Given the description of an element on the screen output the (x, y) to click on. 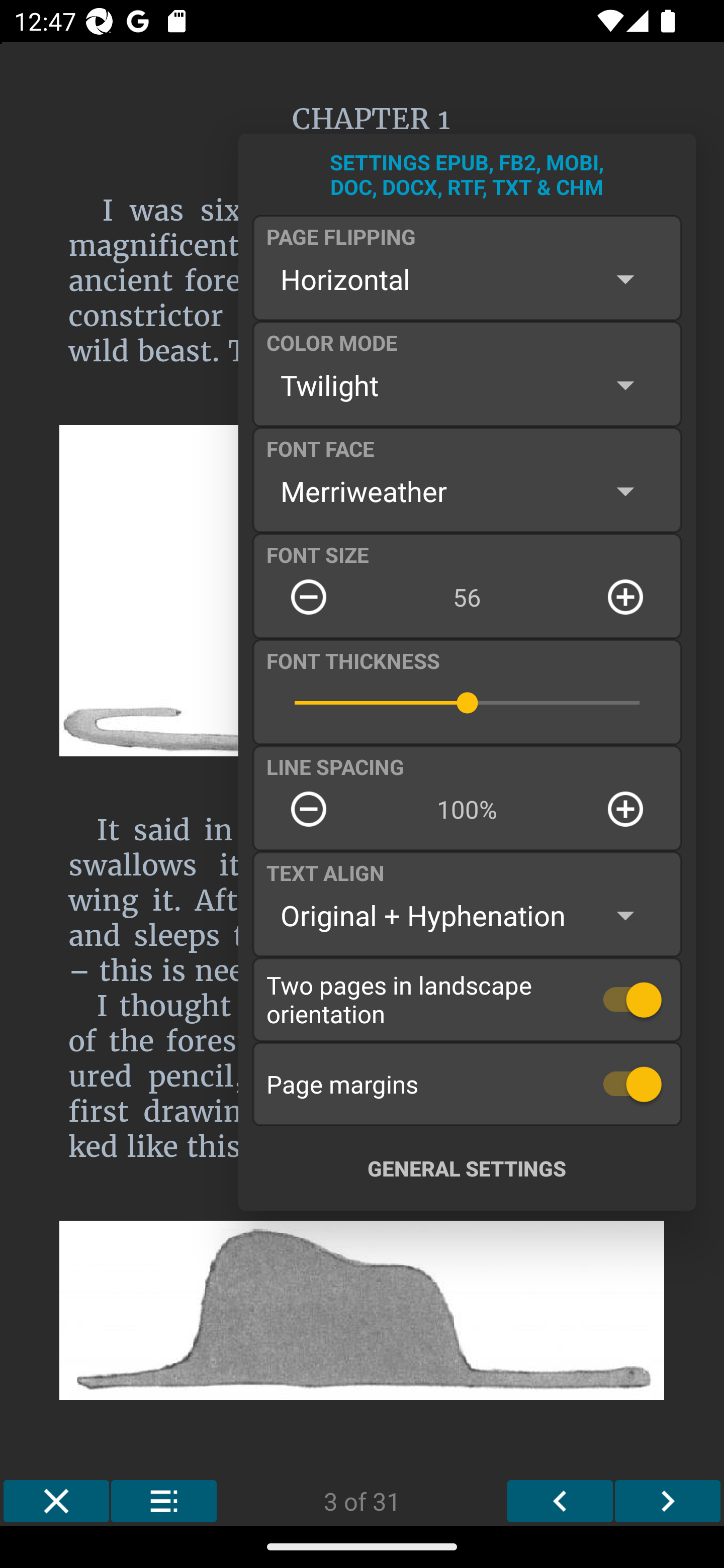
Horizontal (466, 278)
Twilight (466, 384)
Merriweather (466, 490)
Original + Hyphenation (466, 915)
Two pages in landscape orientation (467, 999)
Page margins (467, 1083)
GENERAL SETTINGS (466, 1167)
